Given the description of an element on the screen output the (x, y) to click on. 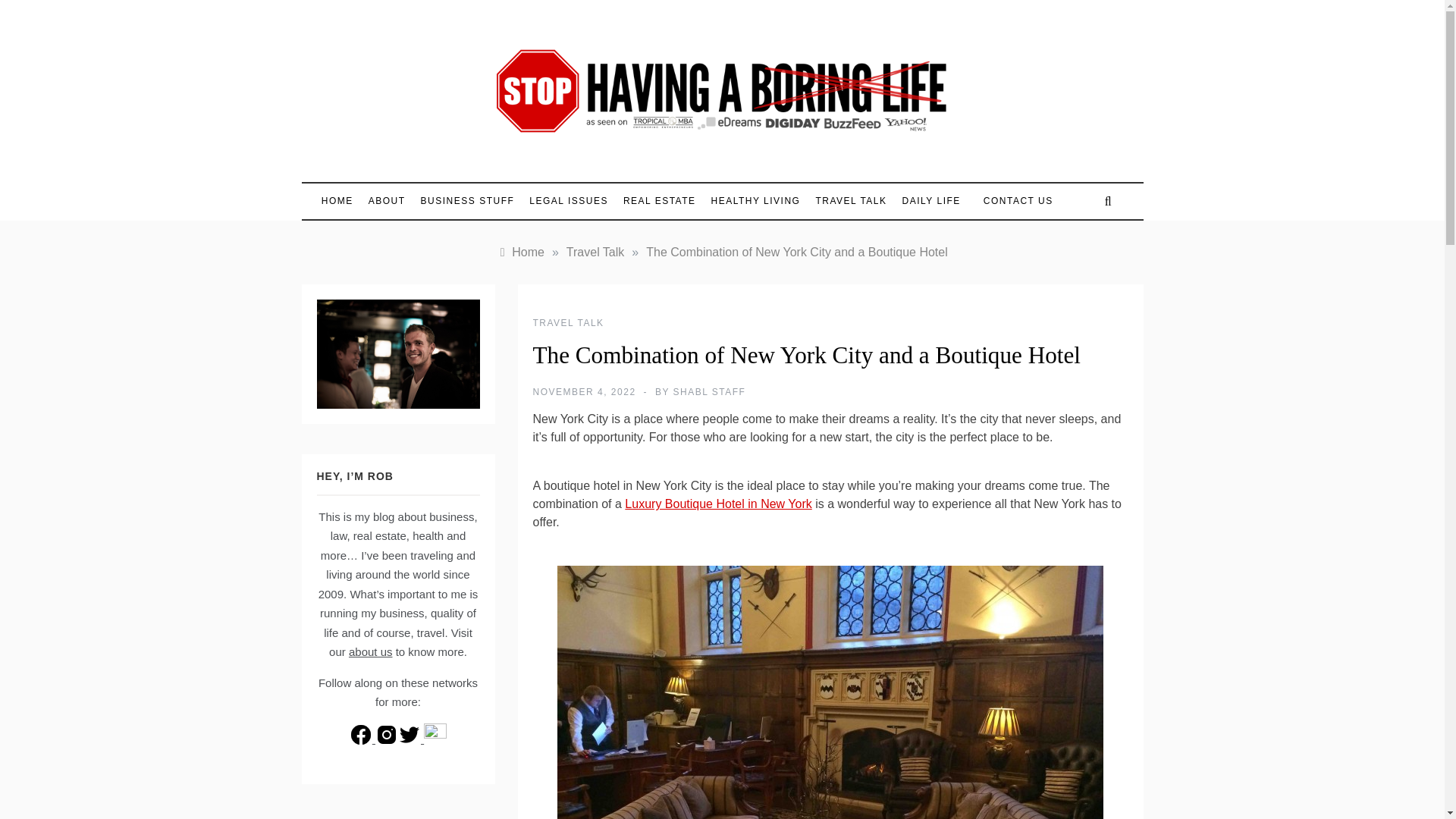
Home (520, 251)
NOVEMBER 4, 2022 (583, 391)
HOME (341, 201)
The Combination of New York City and a Boutique Hotel (796, 251)
TRAVEL TALK (568, 322)
REAL ESTATE (659, 201)
SHABL STAFF (708, 391)
LEGAL ISSUES (568, 201)
TRAVEL TALK (850, 201)
CONTACT US (1010, 201)
